Given the description of an element on the screen output the (x, y) to click on. 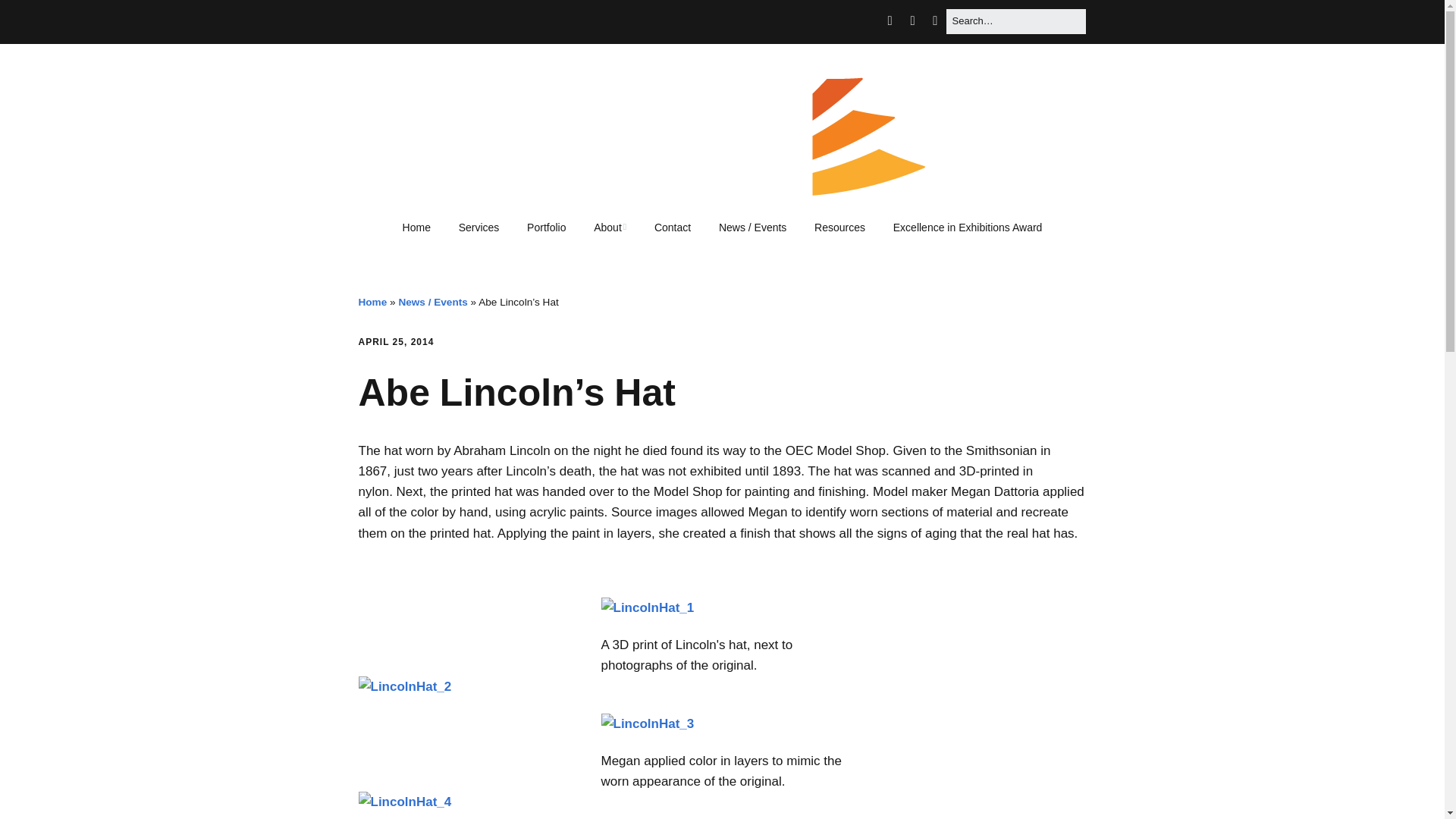
Home (416, 228)
Services (479, 228)
Portfolio (546, 228)
Home (372, 301)
Search (29, 16)
Press Enter to submit your search (1015, 21)
Excellence in Exhibitions Award (967, 228)
Resources (839, 228)
Contact (672, 228)
About (609, 228)
